Given the description of an element on the screen output the (x, y) to click on. 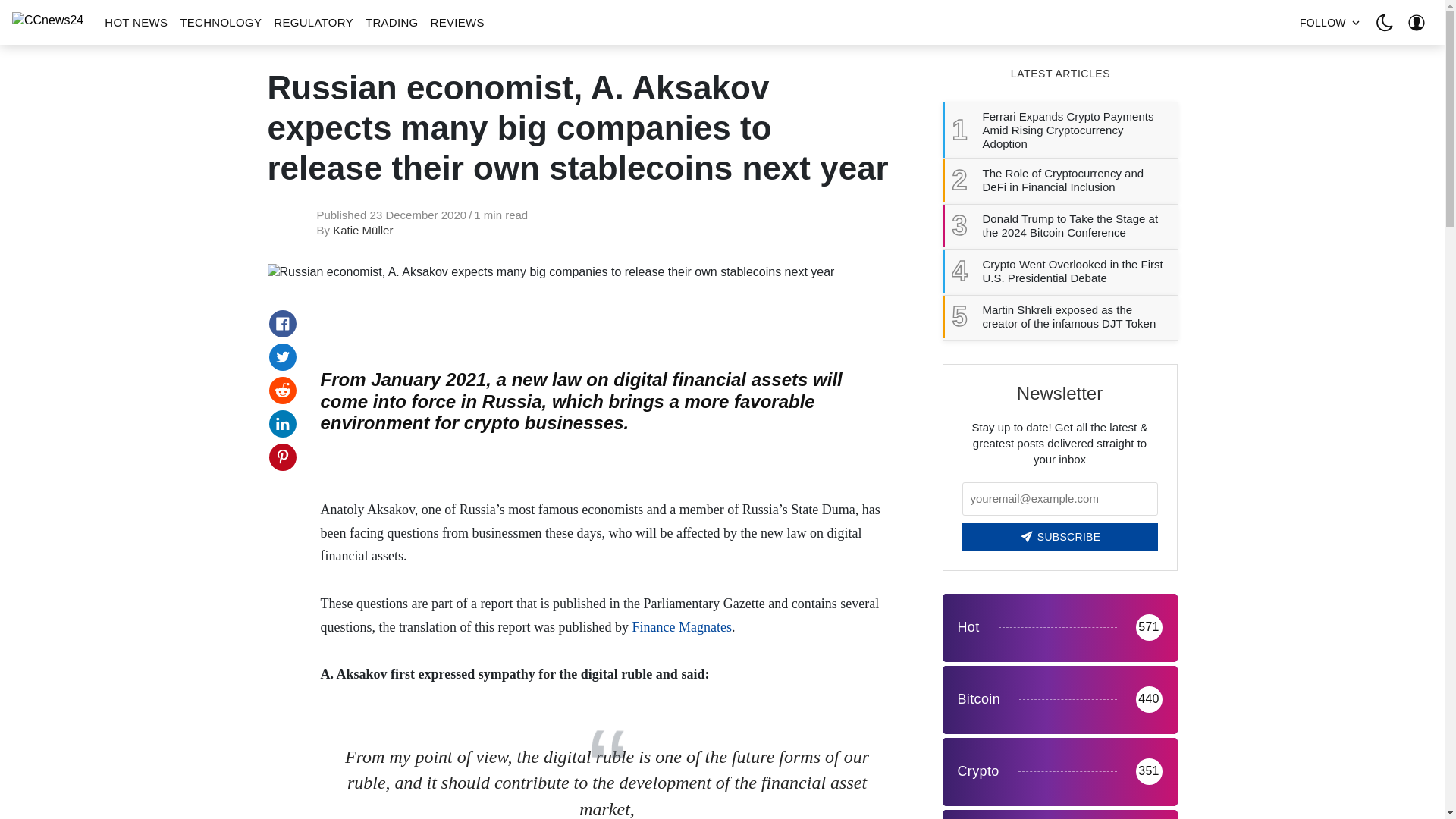
REGULATORY (313, 22)
HOT NEWS (136, 22)
crypto (1059, 771)
REVIEWS (457, 22)
Finance Magnates (680, 627)
TECHNOLOGY (220, 22)
TRADING (392, 22)
bitcoin (1059, 699)
hot (1059, 627)
Trading (1059, 814)
